Given the description of an element on the screen output the (x, y) to click on. 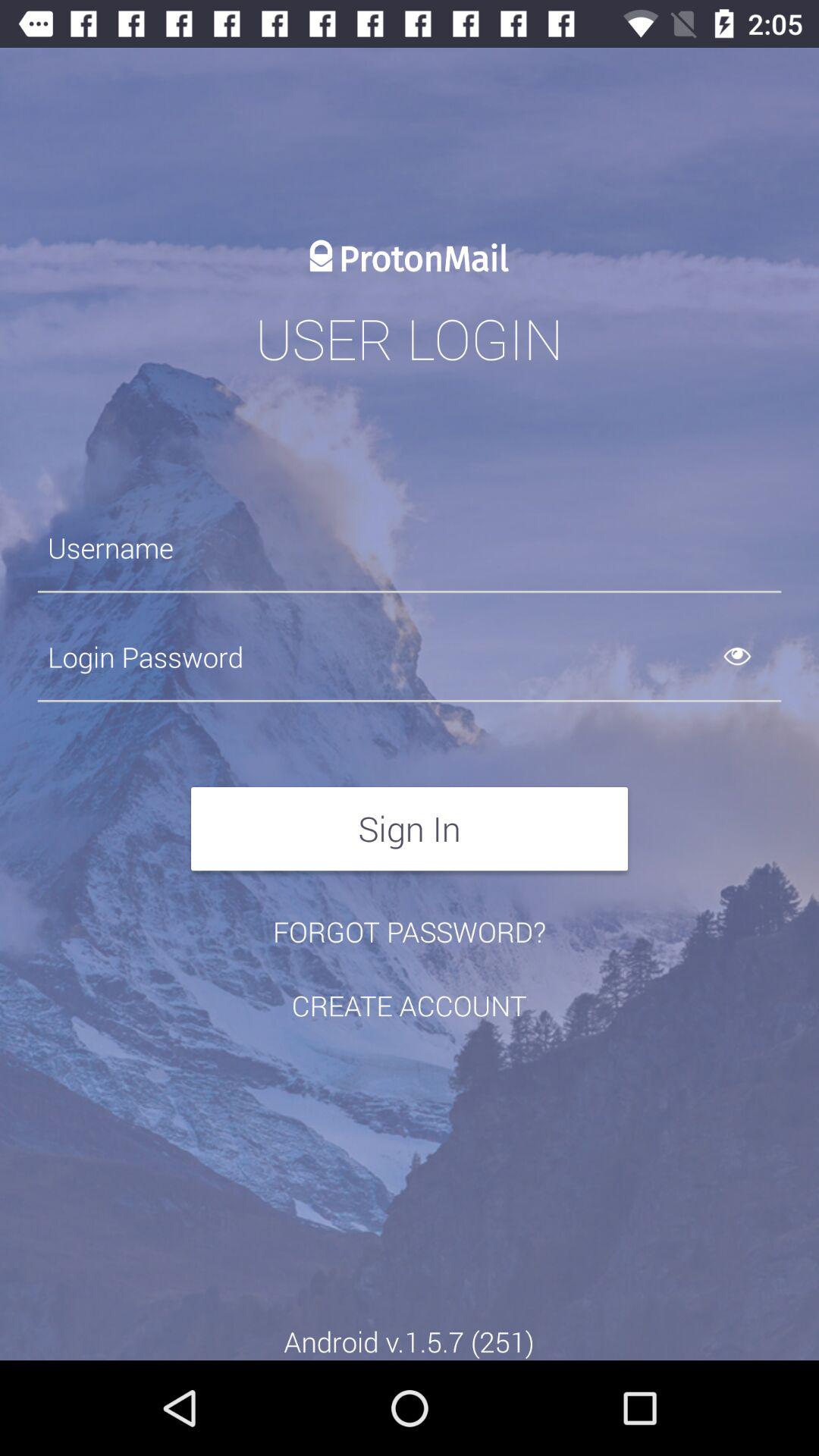
turn on icon above the forgot password? icon (409, 828)
